Given the description of an element on the screen output the (x, y) to click on. 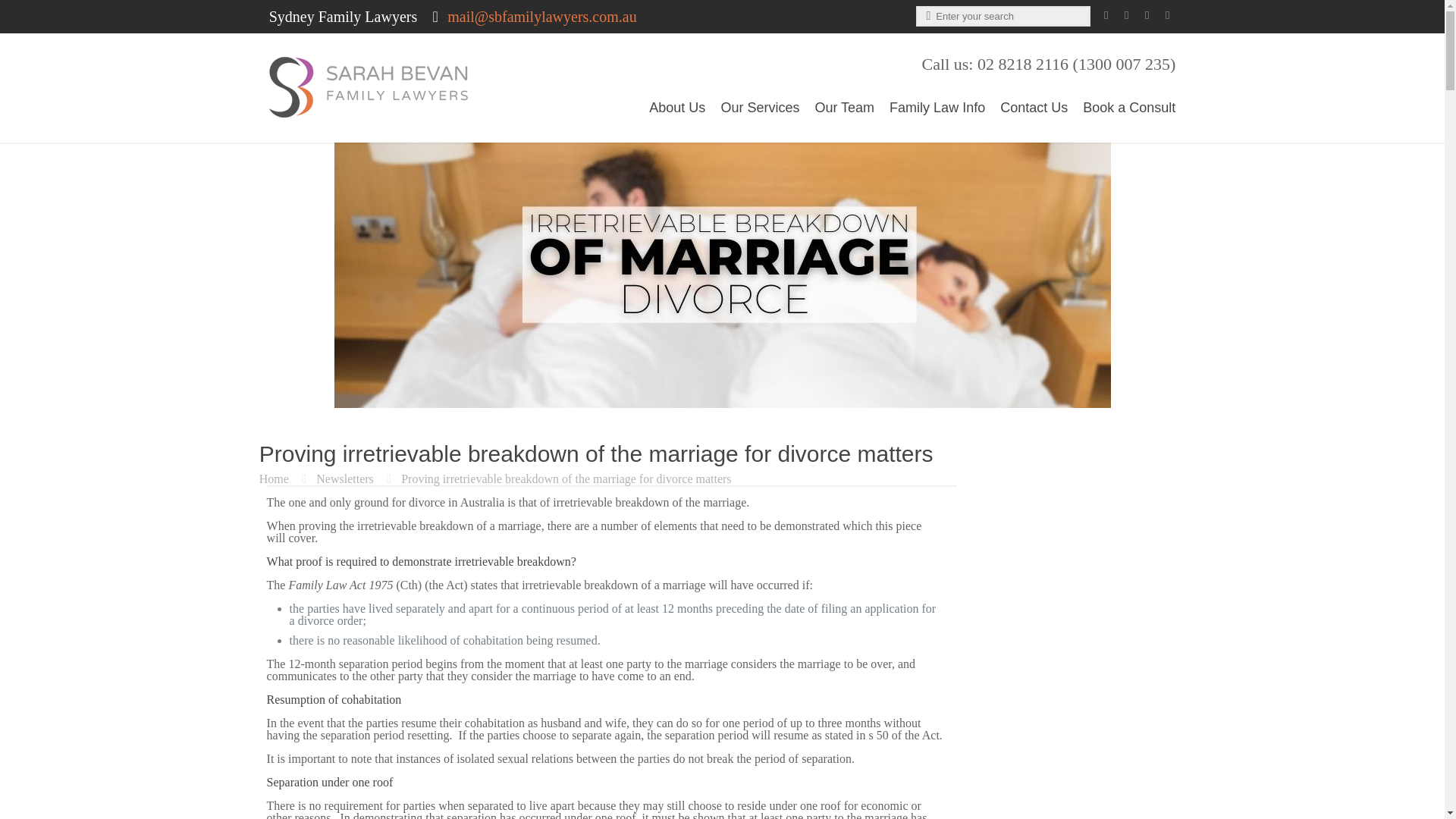
About Us (668, 107)
LinkedIn (1166, 15)
Twitter (1146, 15)
Our Team (837, 107)
Our Services (751, 107)
Facebook (1105, 15)
